Given the description of an element on the screen output the (x, y) to click on. 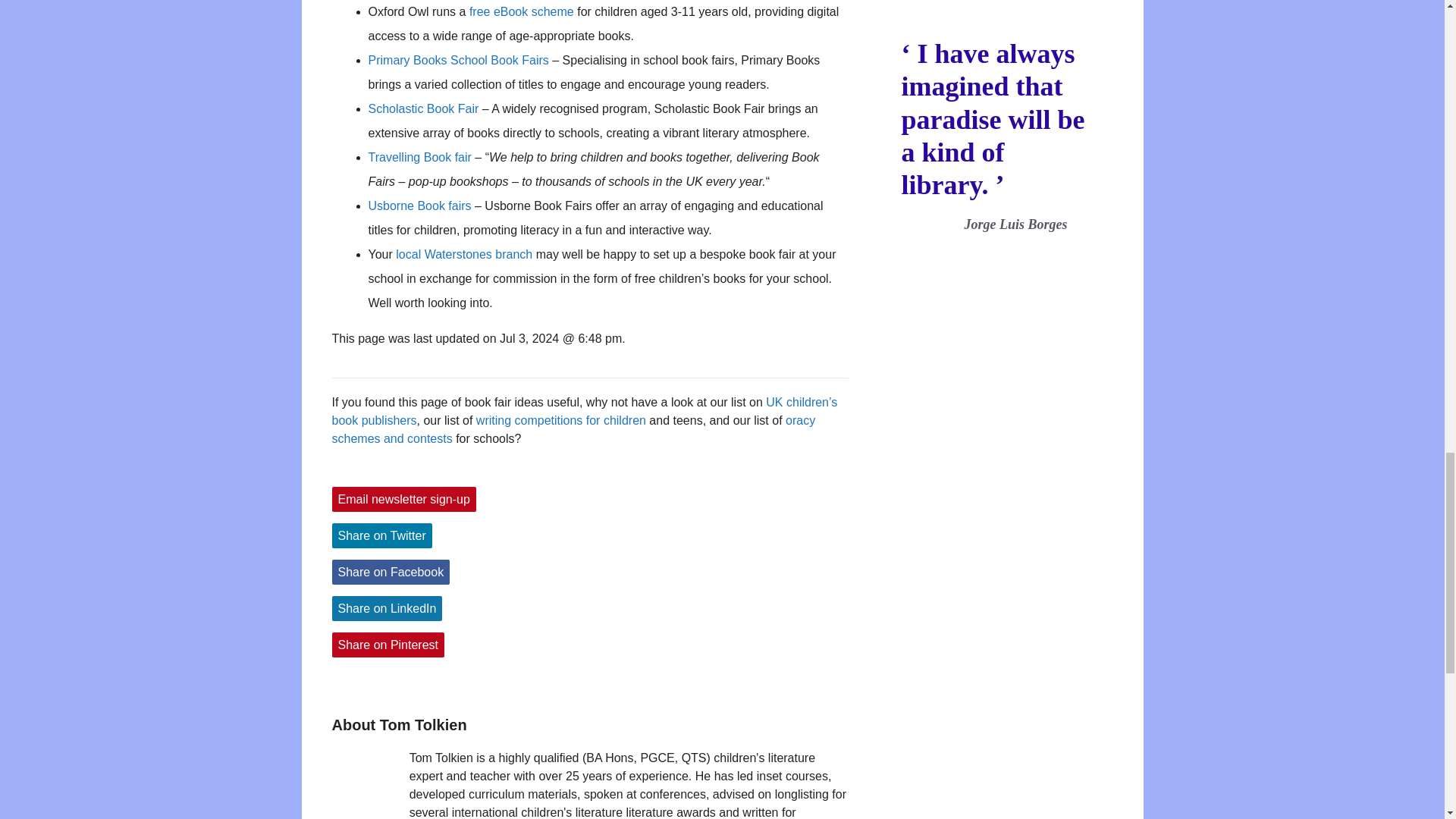
Share on LinkedIn (386, 608)
free eBook scheme (520, 11)
writing competitions for children (561, 420)
Travelling Book fair (419, 156)
Usborne Book fairs (419, 205)
local Waterstones branch (464, 254)
Share on Pinterest (388, 644)
Primary Books School Book Fairs (458, 60)
Scholastic Book Fair (423, 108)
Share on Facebook (390, 571)
